Given the description of an element on the screen output the (x, y) to click on. 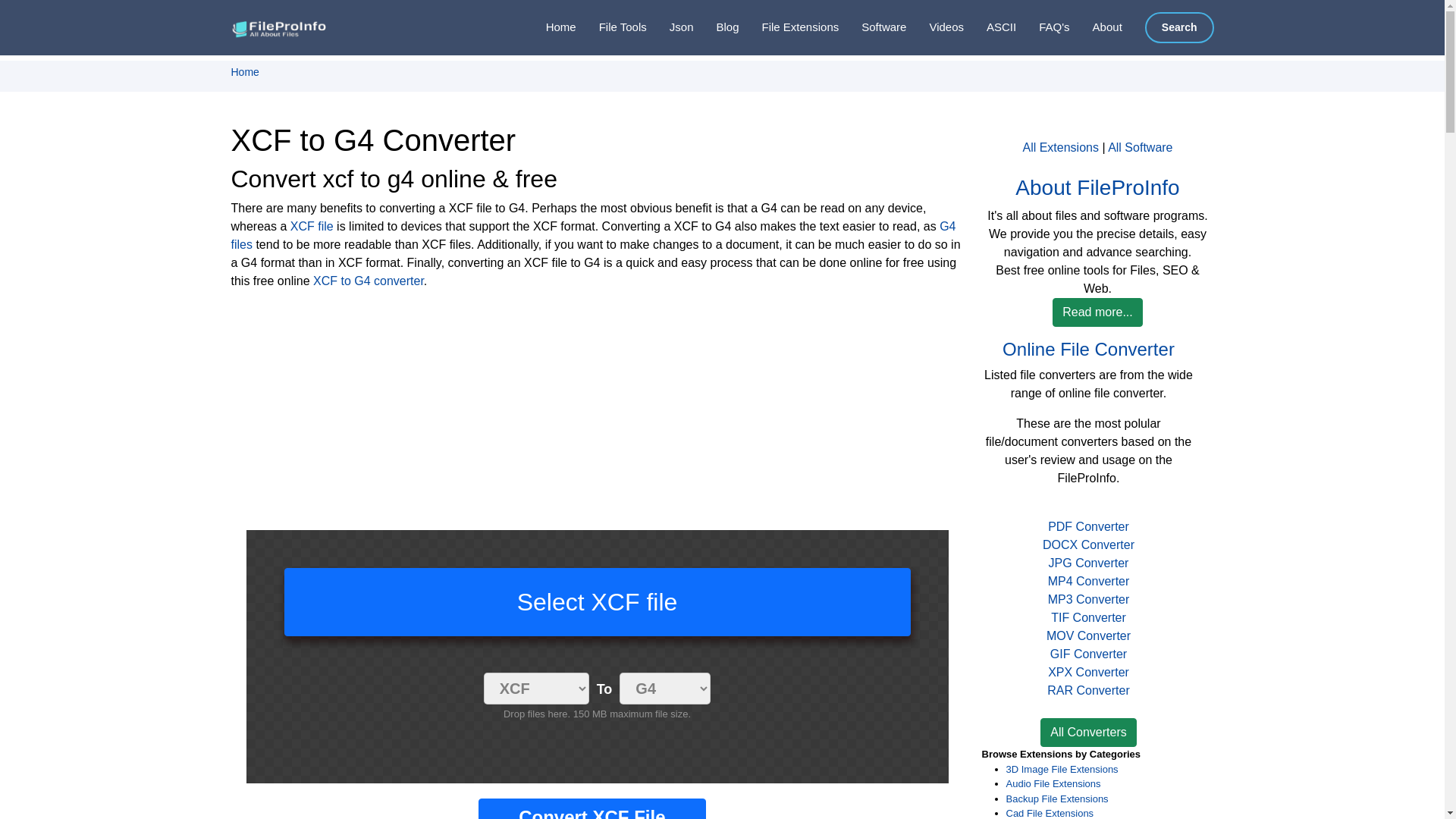
Select XCF file (596, 602)
Free online Json tools (670, 27)
ASCII (989, 27)
FileProInfo.com (280, 26)
Json (670, 27)
About (1096, 27)
File Extensions (789, 27)
FAQ's (1042, 27)
File extensions list (789, 27)
G4 files (592, 235)
